Given the description of an element on the screen output the (x, y) to click on. 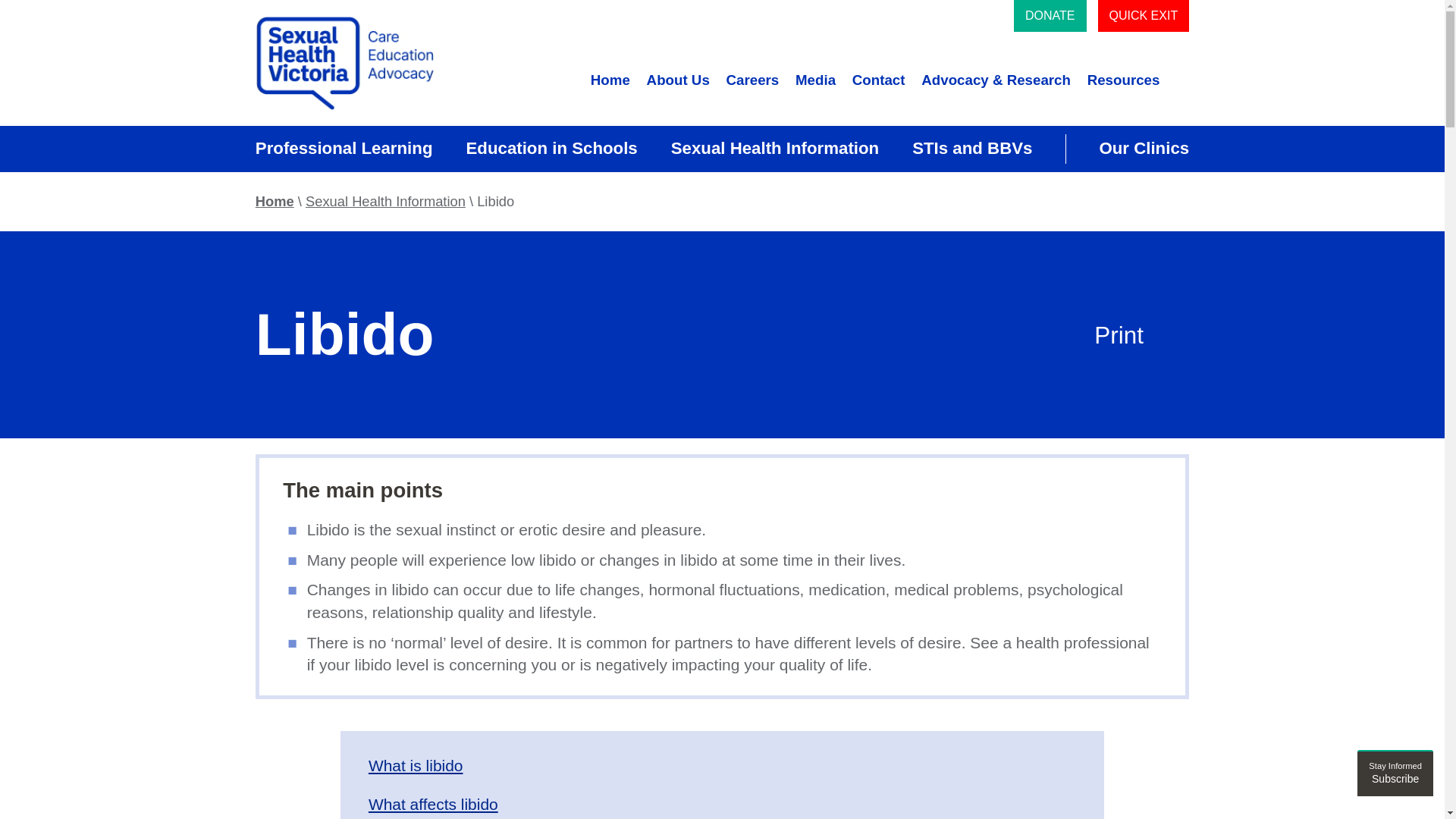
Professional Learning (344, 148)
QUICK EXIT (1143, 15)
Resources (1123, 79)
Print this page (1174, 335)
Home (1394, 773)
Education in Schools (610, 79)
About Us (551, 148)
Our Clinics (678, 79)
Sexual Health Information (1143, 148)
